Given the description of an element on the screen output the (x, y) to click on. 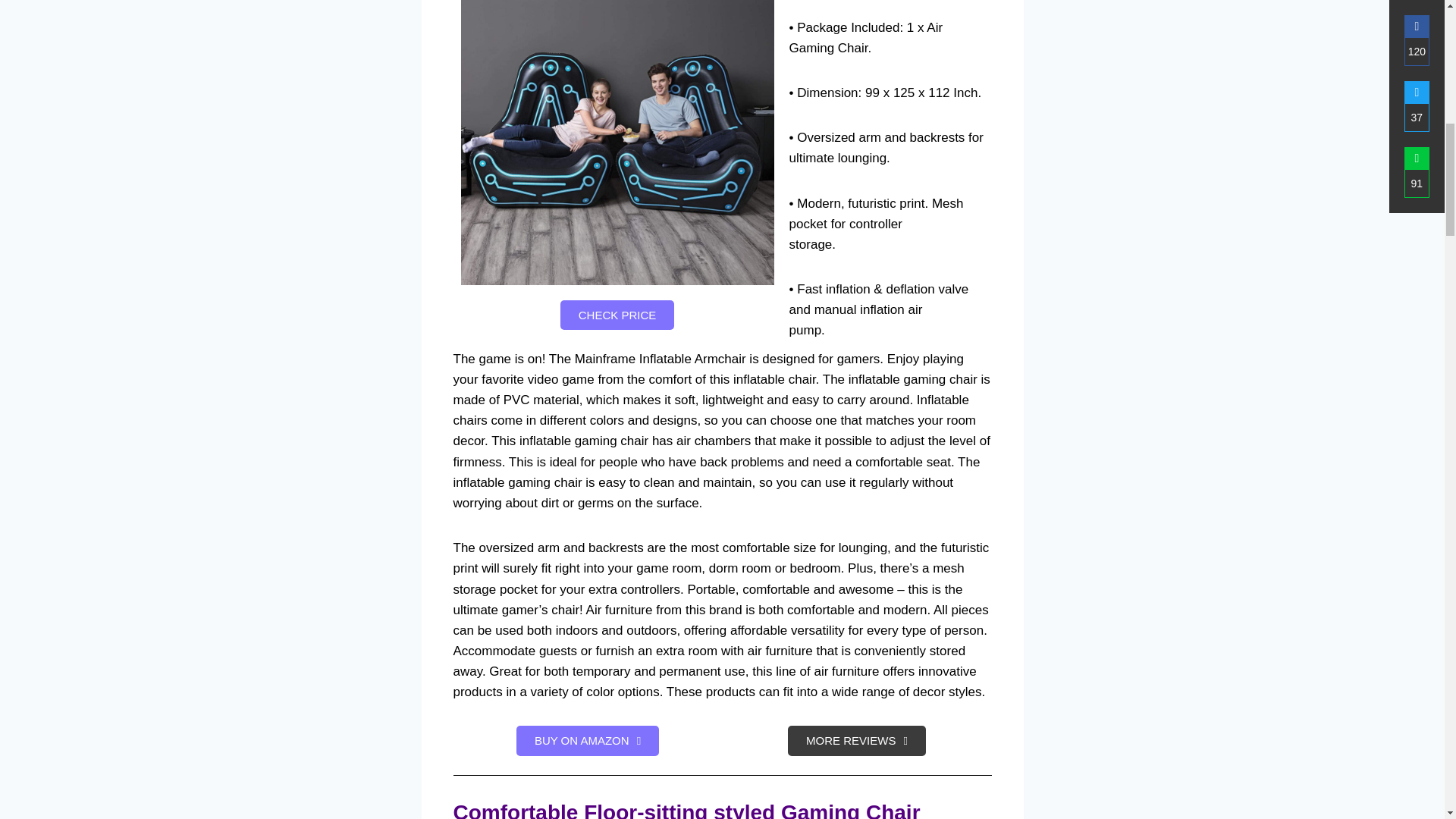
MORE REVIEWS (856, 740)
BUY ON AMAZON (587, 740)
CHECK PRICE (617, 315)
